Given the description of an element on the screen output the (x, y) to click on. 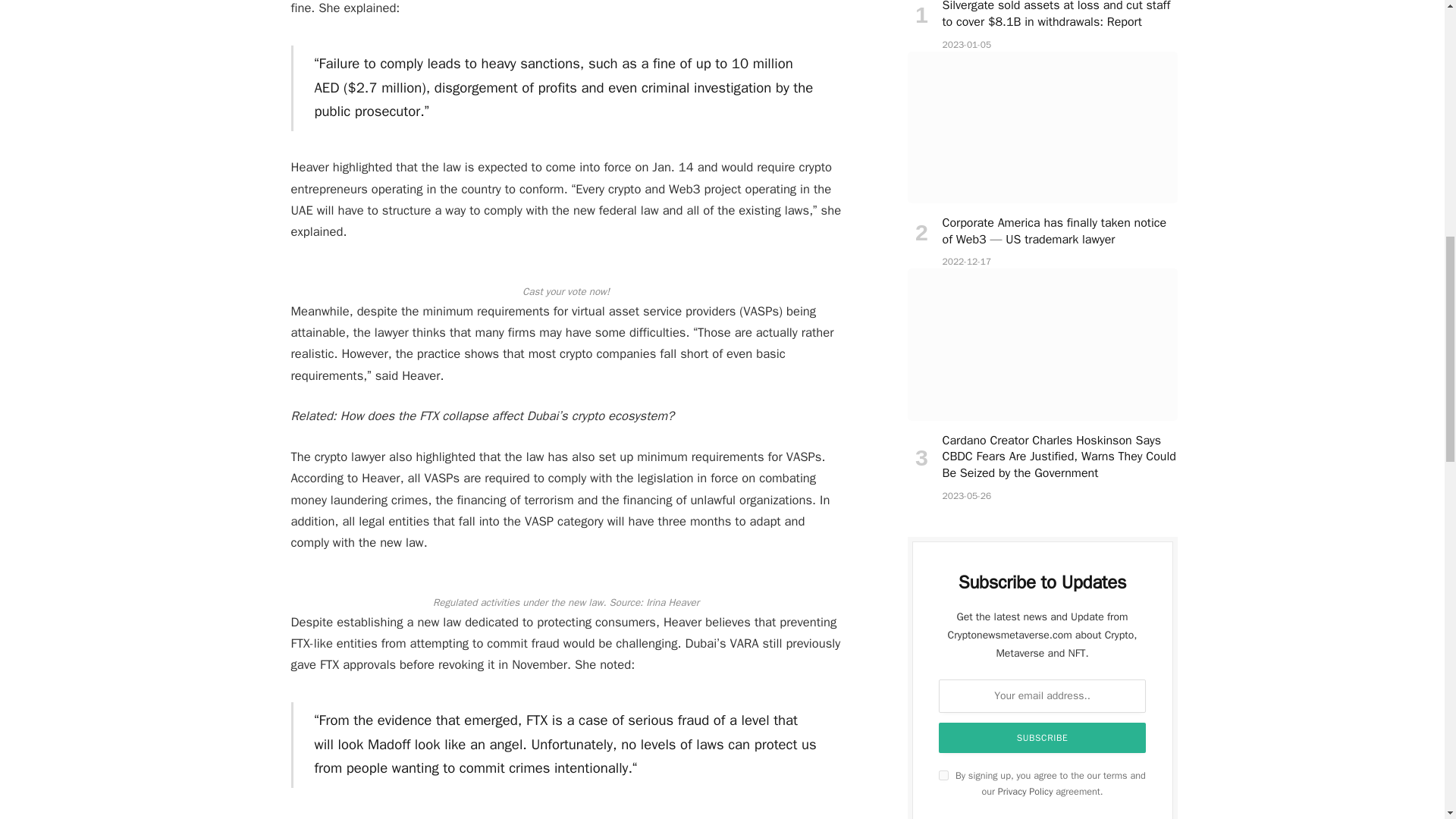
Subscribe (1043, 737)
on (944, 775)
